Given the description of an element on the screen output the (x, y) to click on. 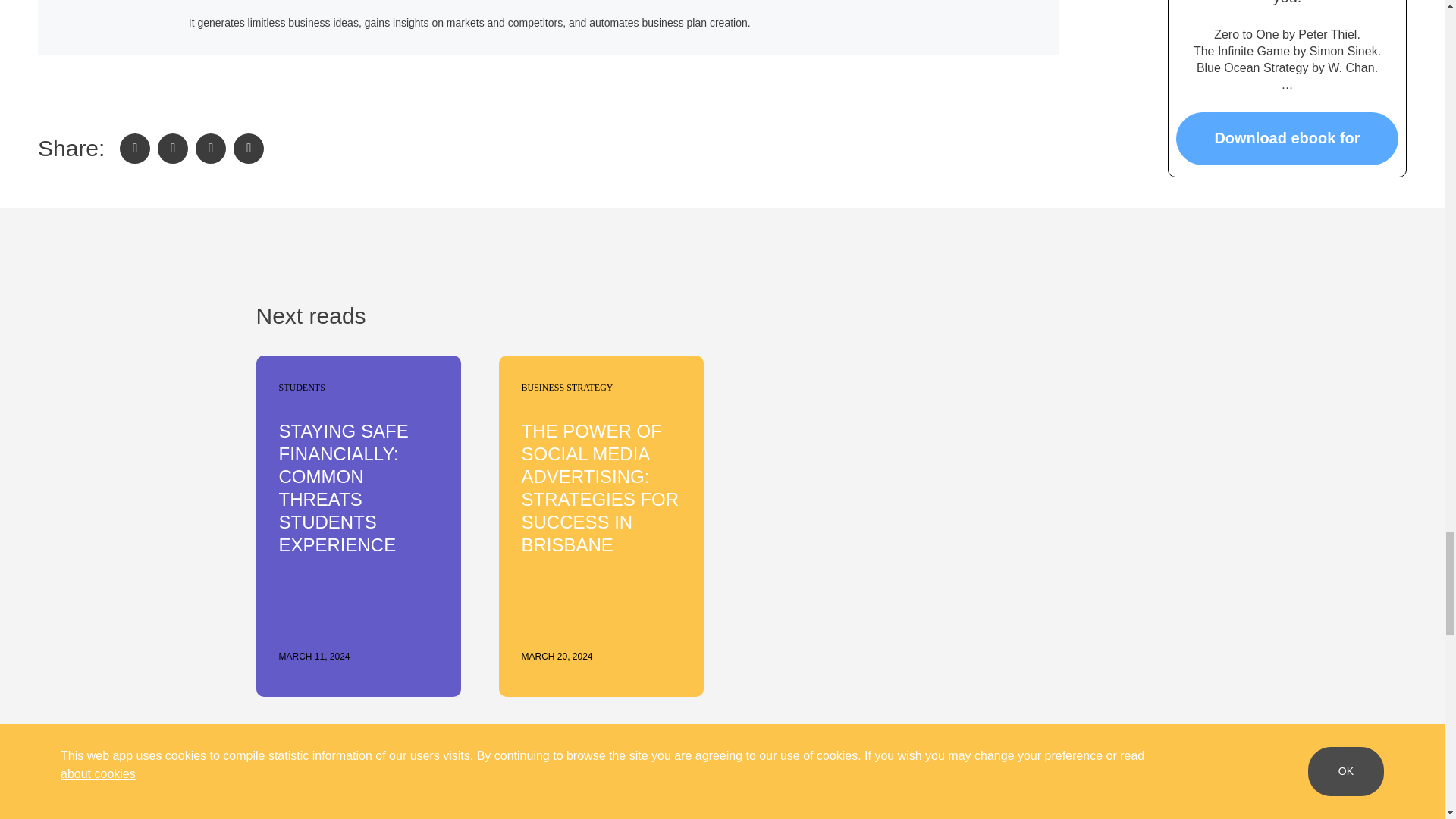
STUDENTS (297, 387)
LinkedIn (210, 148)
Twitter (172, 148)
Facebook (134, 148)
BUSINESS STRATEGY (562, 387)
Pinterest (247, 148)
